Given the description of an element on the screen output the (x, y) to click on. 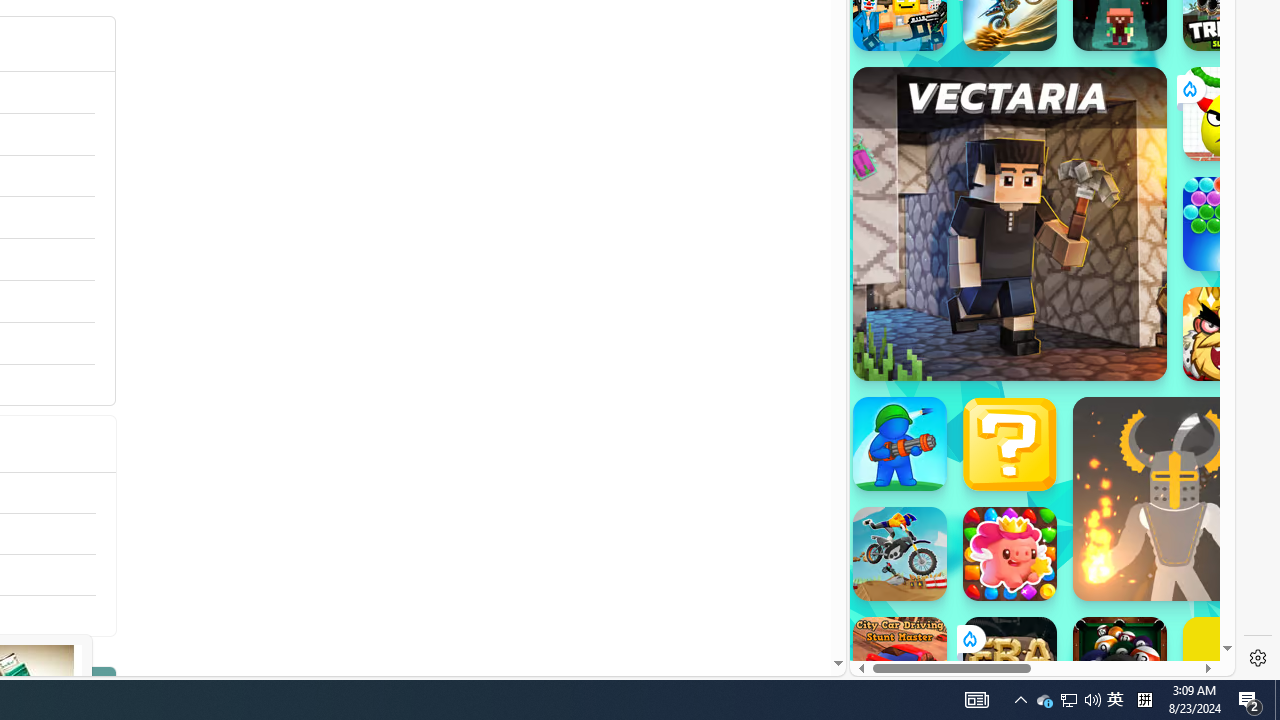
Crazy Bikes Crazy Bikes (899, 553)
Ragdoll Hit (1174, 498)
Draw To Smash: Logic Puzzle (1229, 113)
War Master War Master (899, 443)
Vectaria.io (1009, 223)
Mystery Tile (1009, 443)
Hills of Steel (943, 200)
Like a King (1229, 333)
Vectaria.io (1009, 223)
Ragdoll Hit Ragdoll Hit (1174, 498)
AutomationID: mfa_root (762, 603)
poki.com (1092, 338)
Class: rCs5cyEiqiTpYvt_VBCR (968, 638)
